Given the description of an element on the screen output the (x, y) to click on. 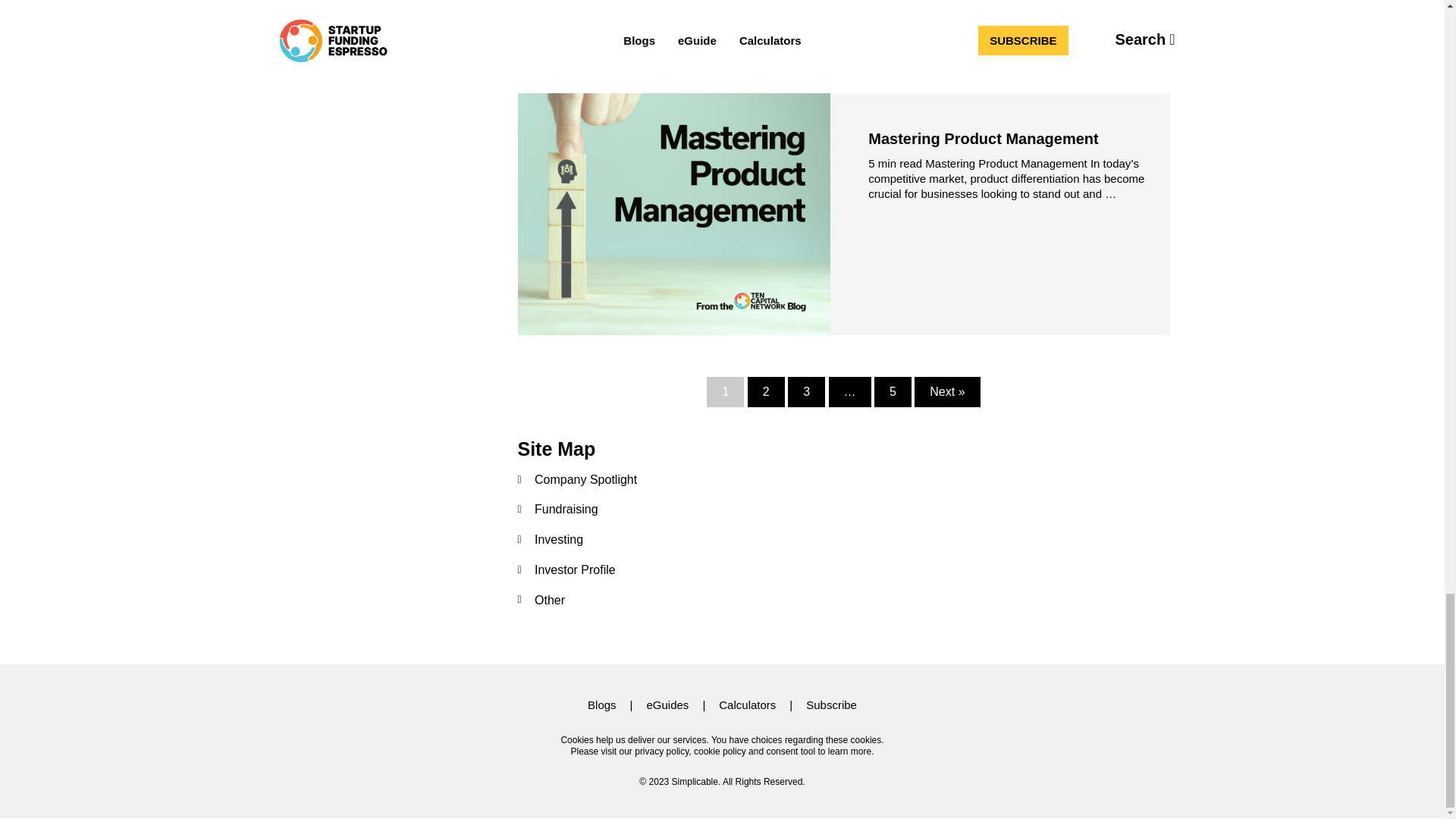
2 (766, 391)
3 (806, 391)
Mastering Product Management (982, 138)
